Given the description of an element on the screen output the (x, y) to click on. 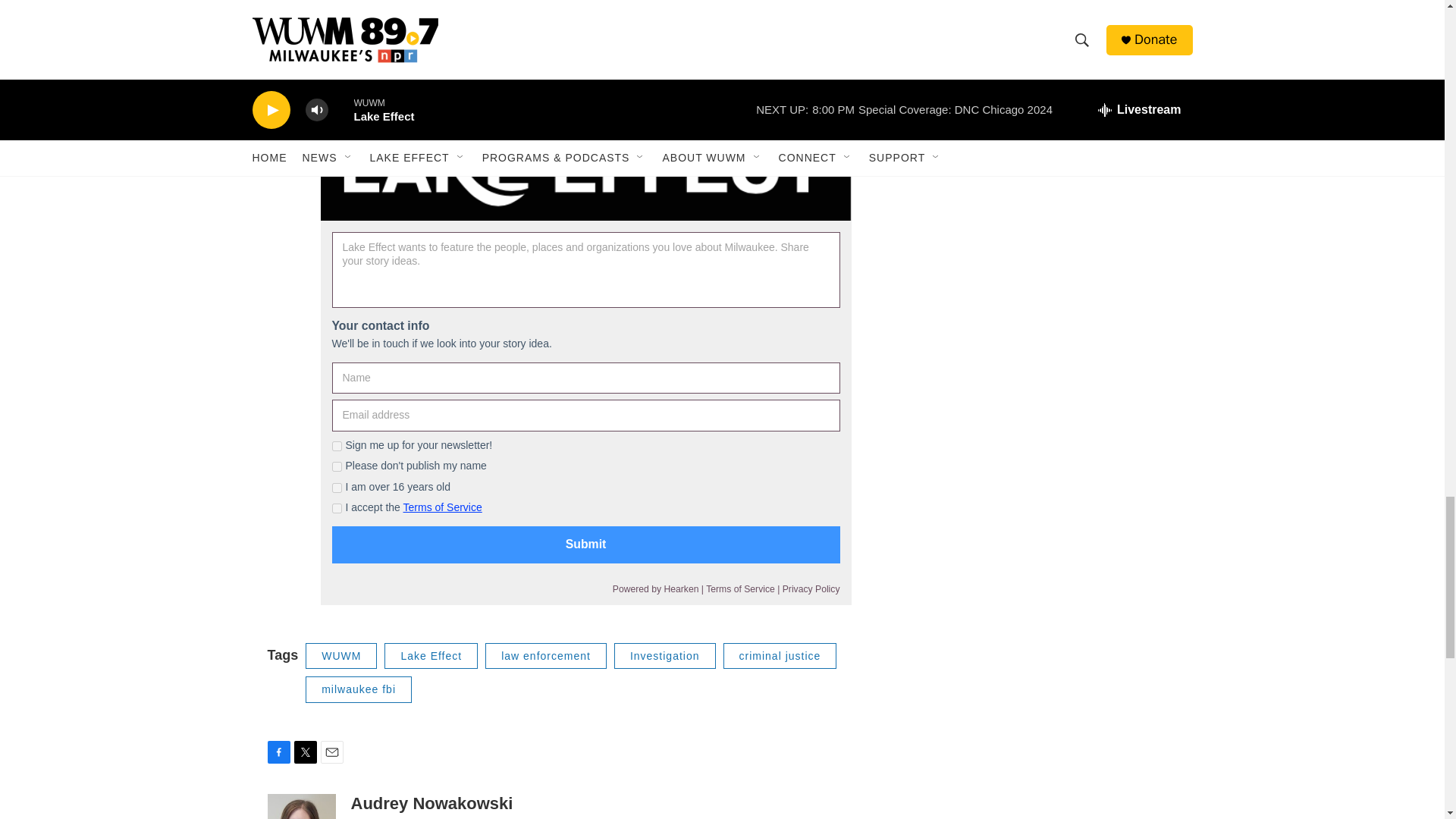
on (336, 446)
on (336, 488)
on (336, 466)
on (336, 508)
